Given the description of an element on the screen output the (x, y) to click on. 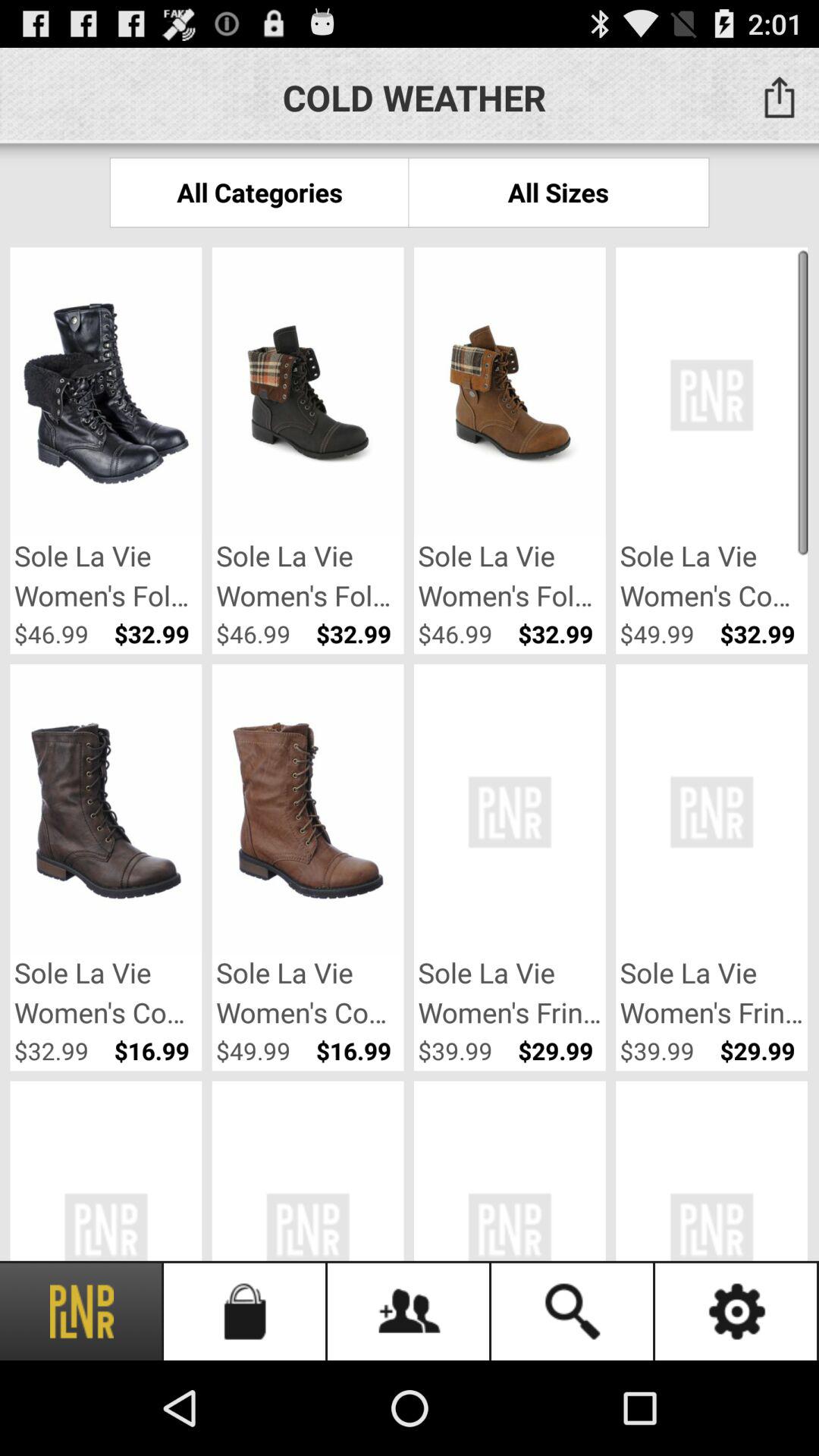
click on the all sizes option (558, 192)
